Given the description of an element on the screen output the (x, y) to click on. 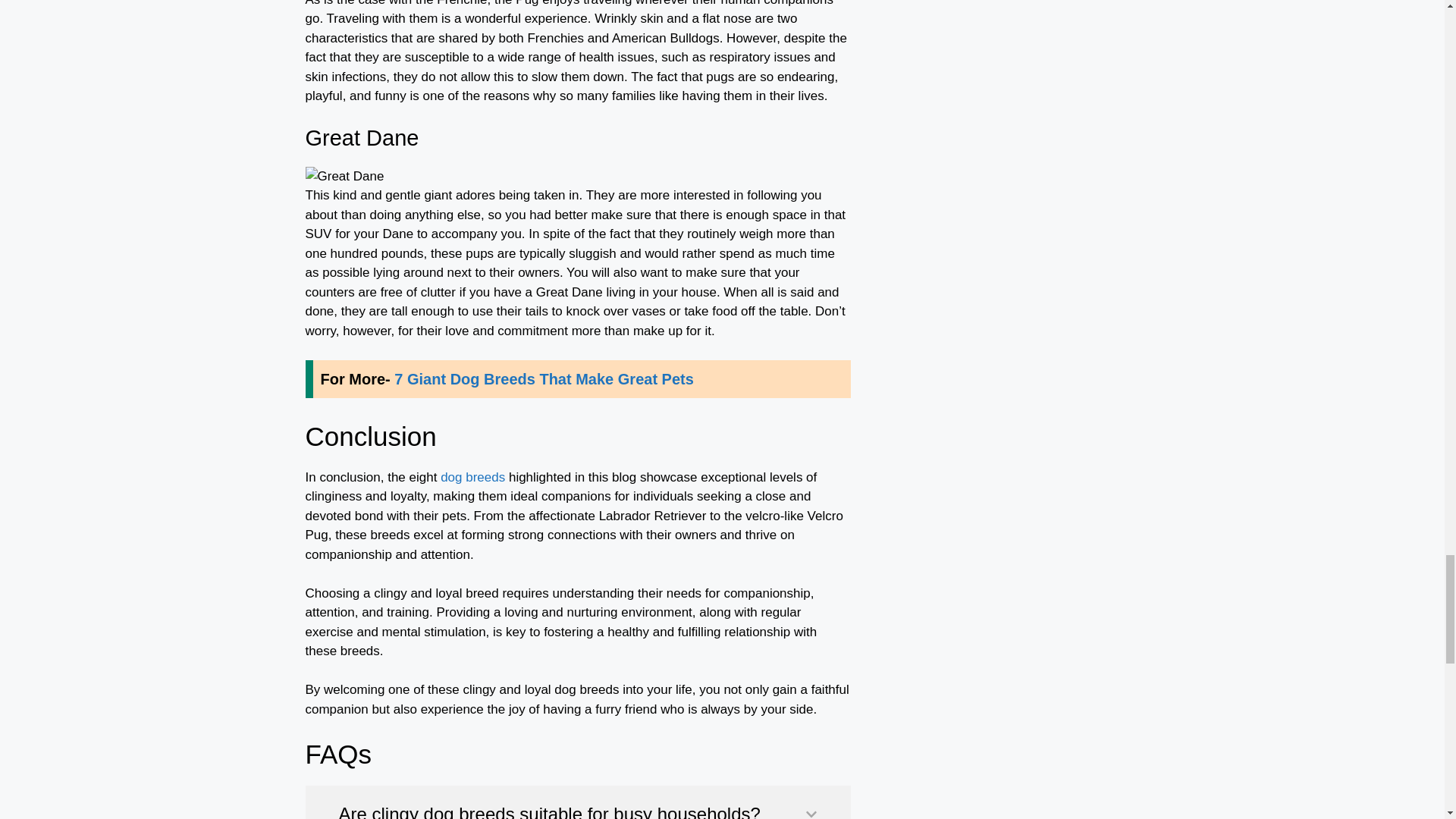
7 Giant Dog Breeds That Make Great Pets (544, 379)
dog breeds (473, 477)
